Given the description of an element on the screen output the (x, y) to click on. 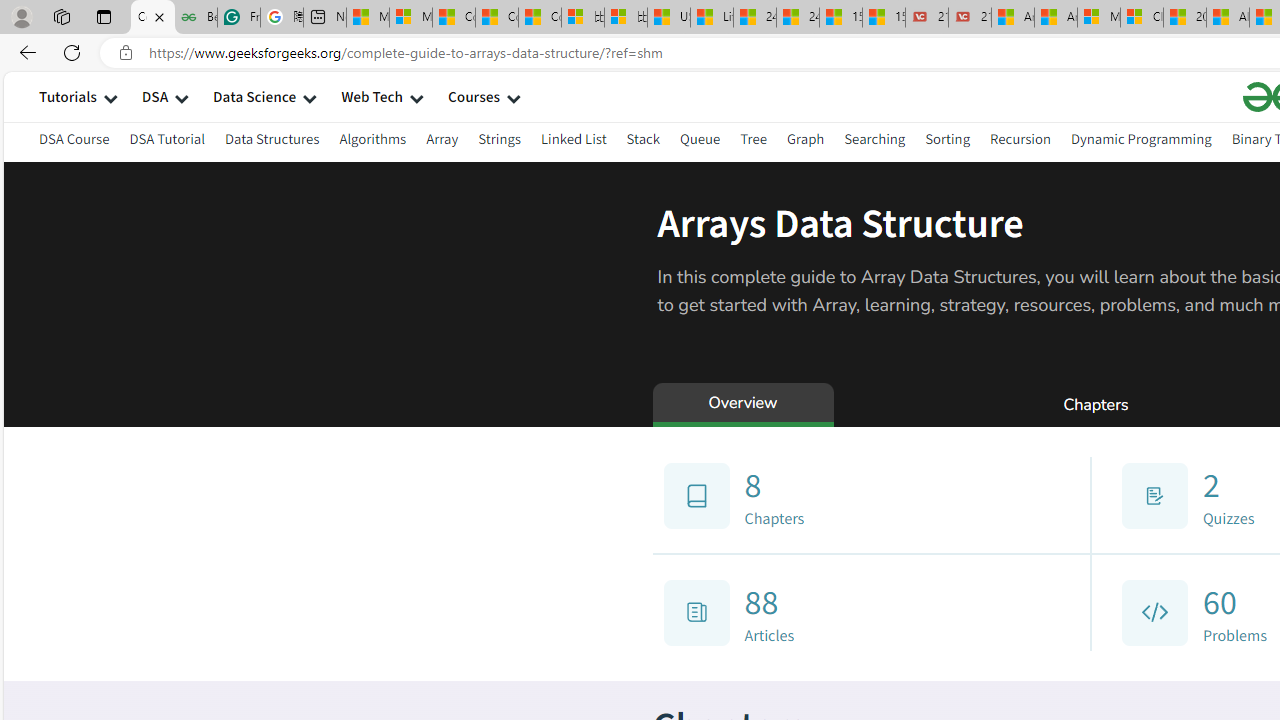
Graph (804, 142)
Web Tech (372, 96)
Sorting (947, 138)
DSA Tutorial (167, 142)
Graph (804, 138)
DSA (154, 96)
Data Structures (271, 142)
Stack (642, 138)
Recursion (1020, 142)
Sorting (947, 142)
Best SSL Certificates Provider in India - GeeksforGeeks (196, 17)
20 Ways to Boost Your Protein Intake at Every Meal (1184, 17)
Searching (875, 138)
Tree (752, 142)
